Given the description of an element on the screen output the (x, y) to click on. 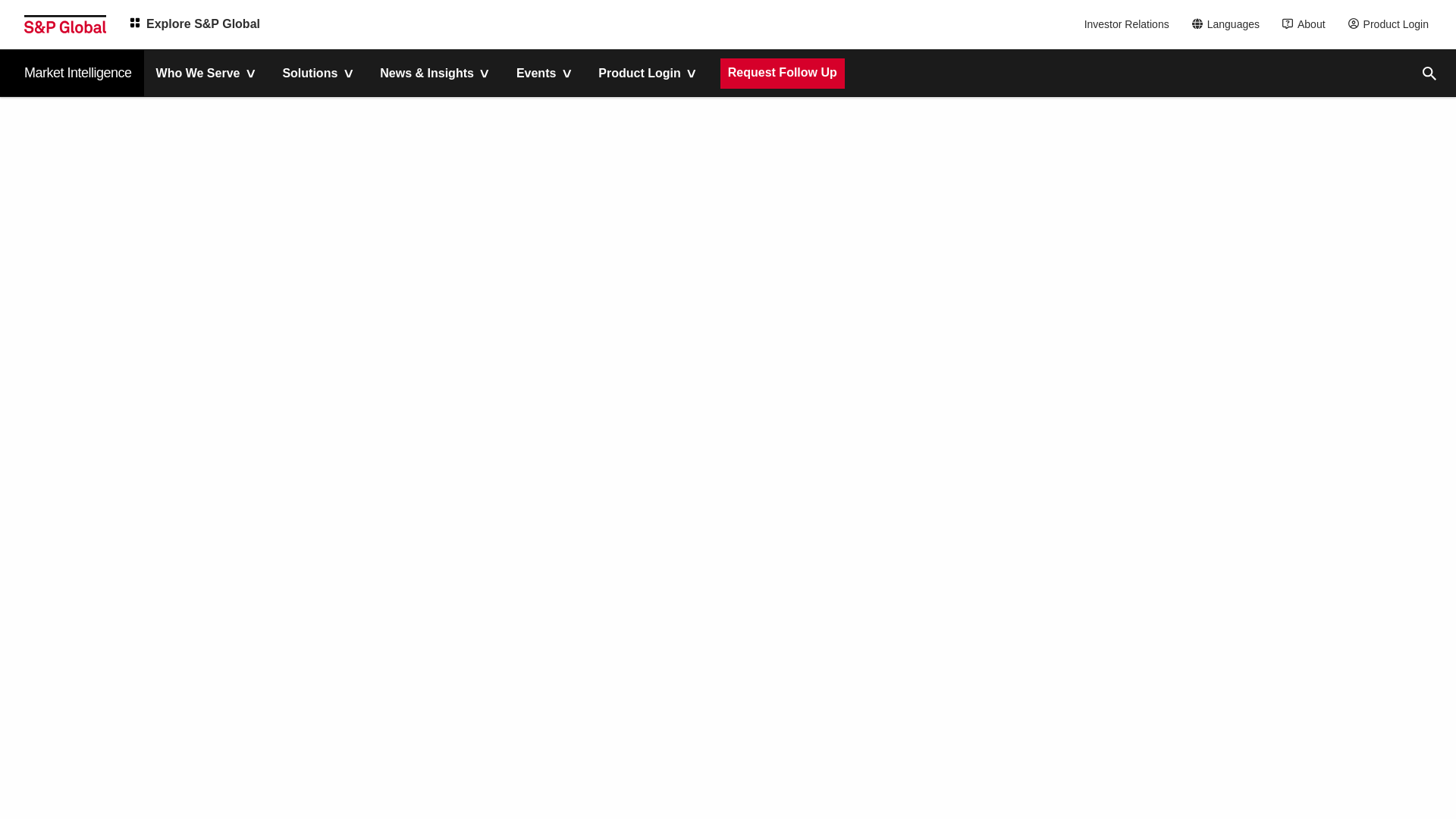
Product Login (1392, 24)
Investor Relations (1129, 24)
About (1307, 24)
Languages (1230, 24)
